Given the description of an element on the screen output the (x, y) to click on. 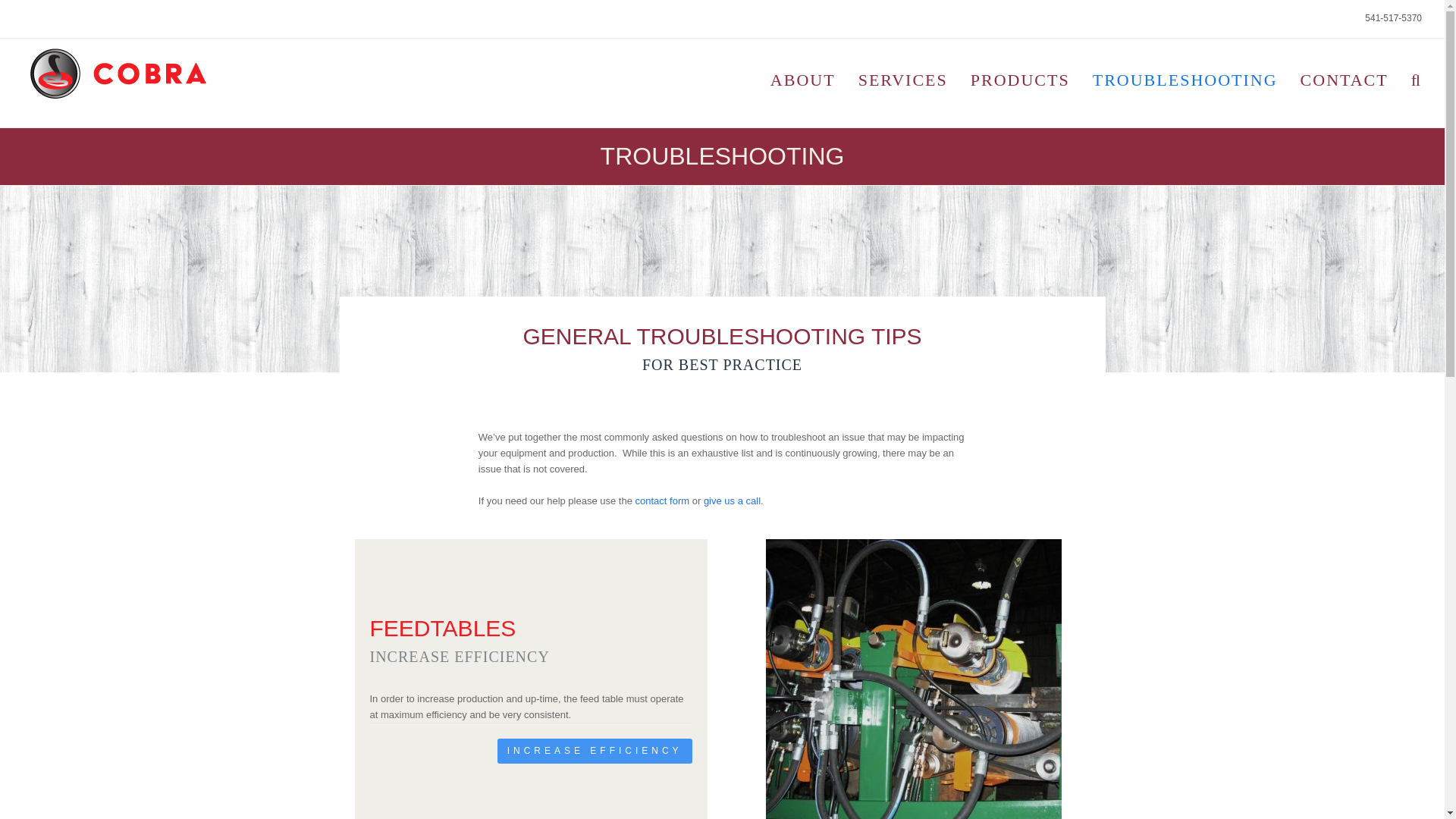
contact form (662, 500)
TROUBLESHOOTING (1184, 82)
SERVICES (903, 82)
CONTACT (1343, 82)
541-517-5370 (1393, 18)
ABOUT (802, 82)
give us a call (731, 500)
INCREASE EFFICIENCY (595, 750)
PRODUCTS (1020, 82)
Feedtable Hydraulic drive upgrade (913, 678)
